Given the description of an element on the screen output the (x, y) to click on. 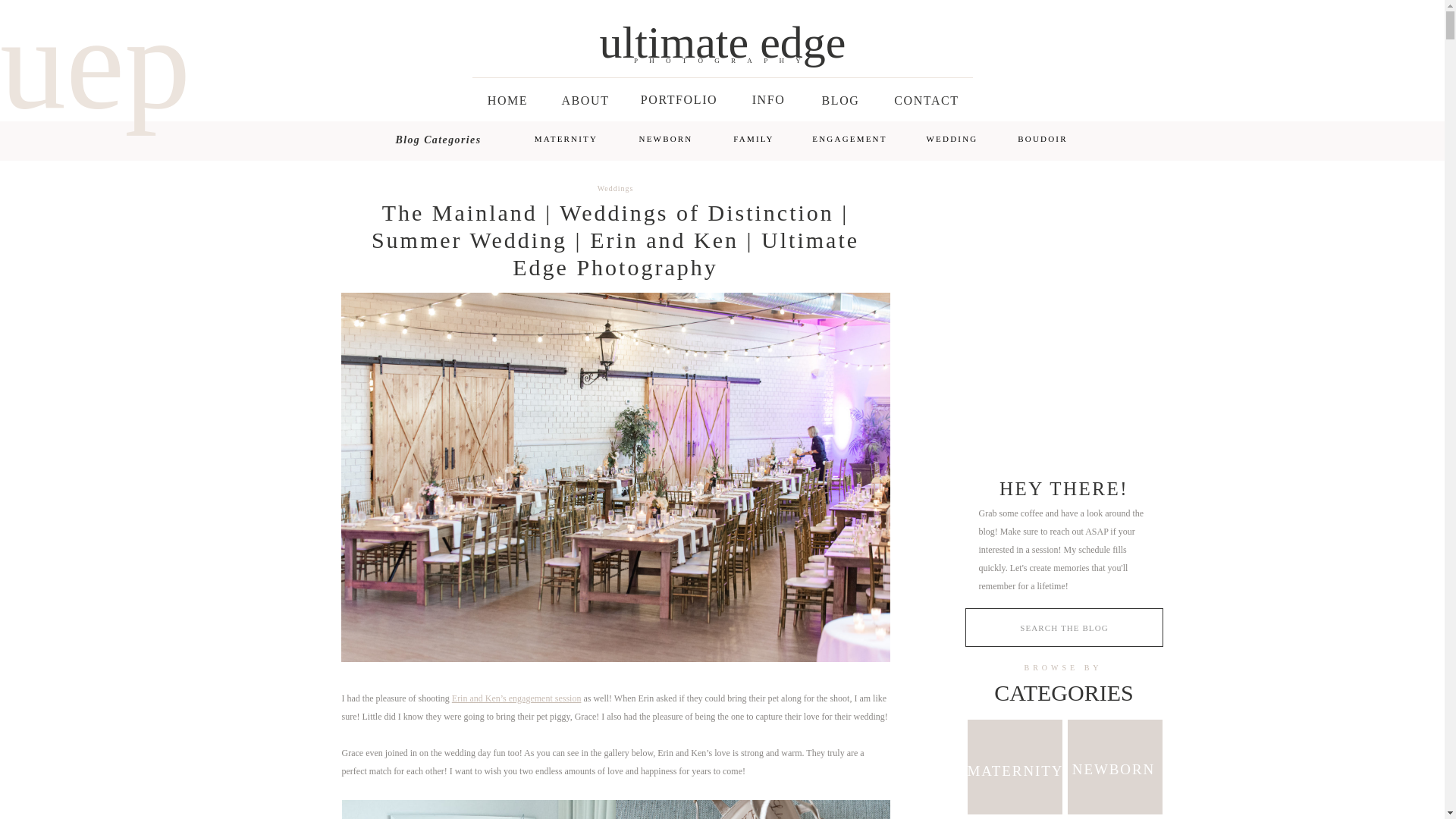
FAMILY (754, 138)
MATERNITY (565, 138)
ABOUT (585, 98)
CONTACT (926, 98)
Blog Categories (437, 141)
WEDDING (951, 138)
NEWBORN (665, 138)
BLOG (839, 98)
BOUDOIR (1042, 138)
INFO (769, 98)
